Given the description of an element on the screen output the (x, y) to click on. 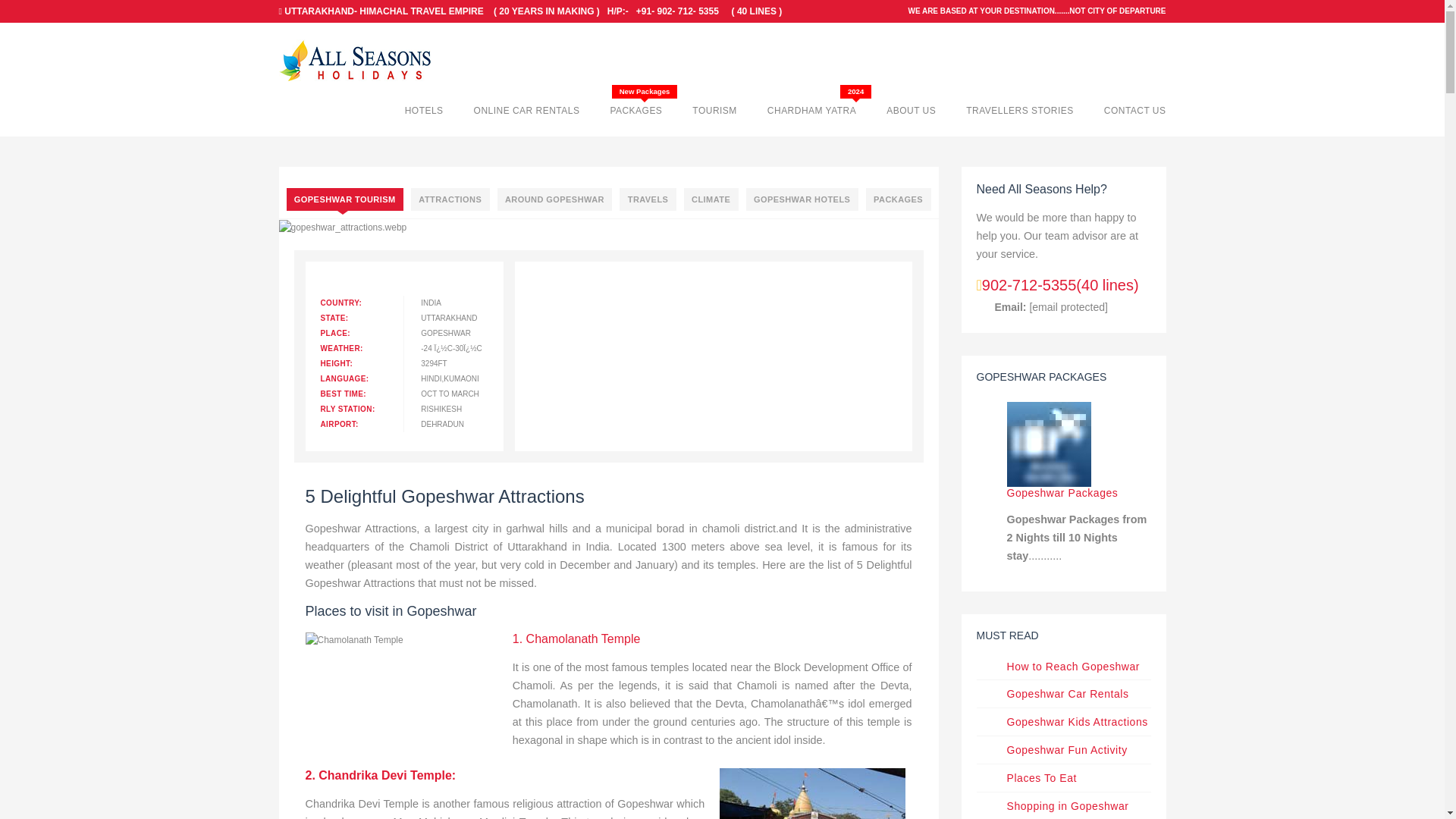
WE ARE BASED AT YOUR DESTINATION.......NOT CITY OF DEPARTURE (1036, 11)
ONLINE CAR RENTALS (526, 110)
All Seasons  (354, 62)
PACKAGES (636, 110)
